Given the description of an element on the screen output the (x, y) to click on. 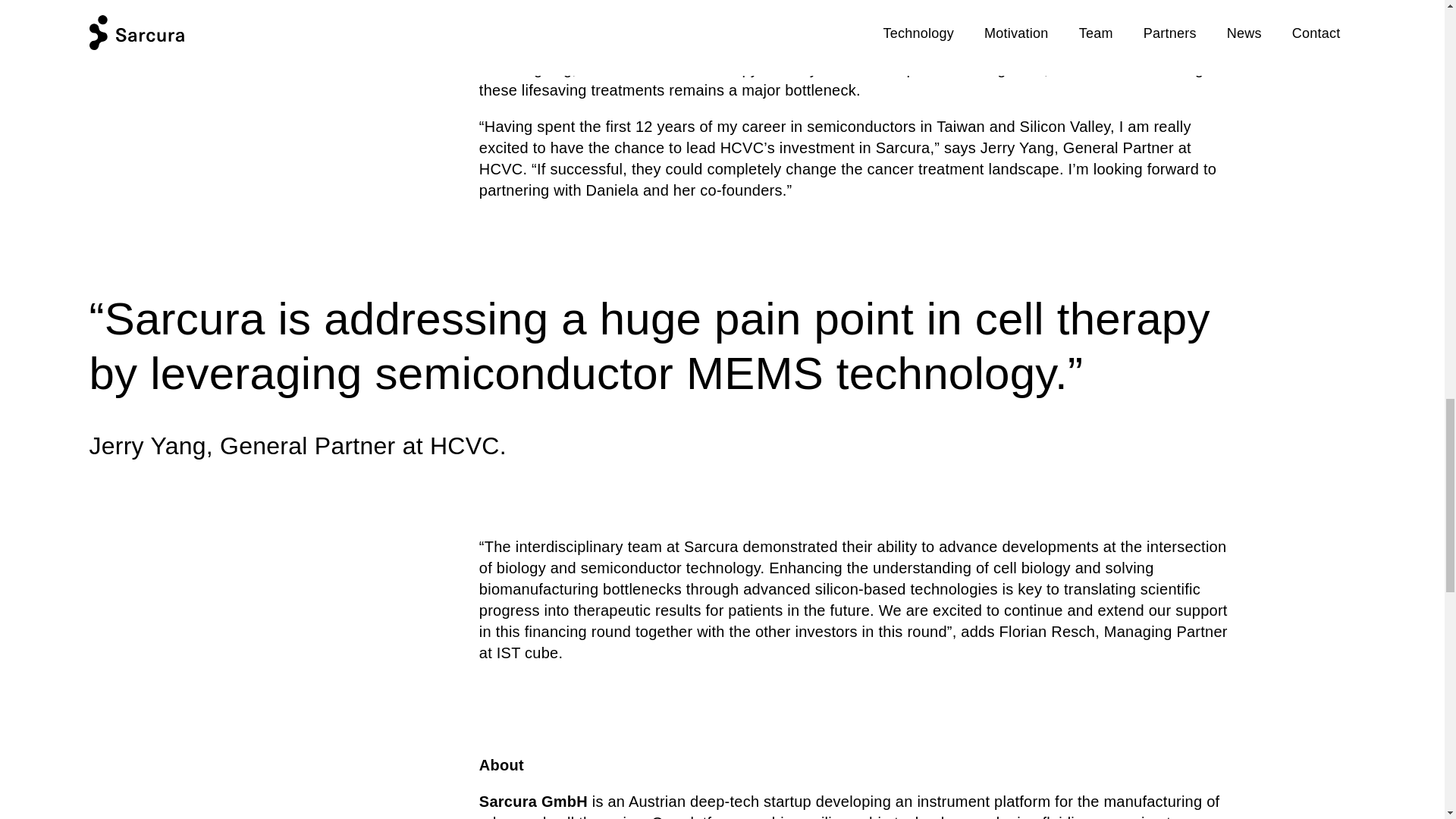
Sarcura GmbH (533, 801)
